Given the description of an element on the screen output the (x, y) to click on. 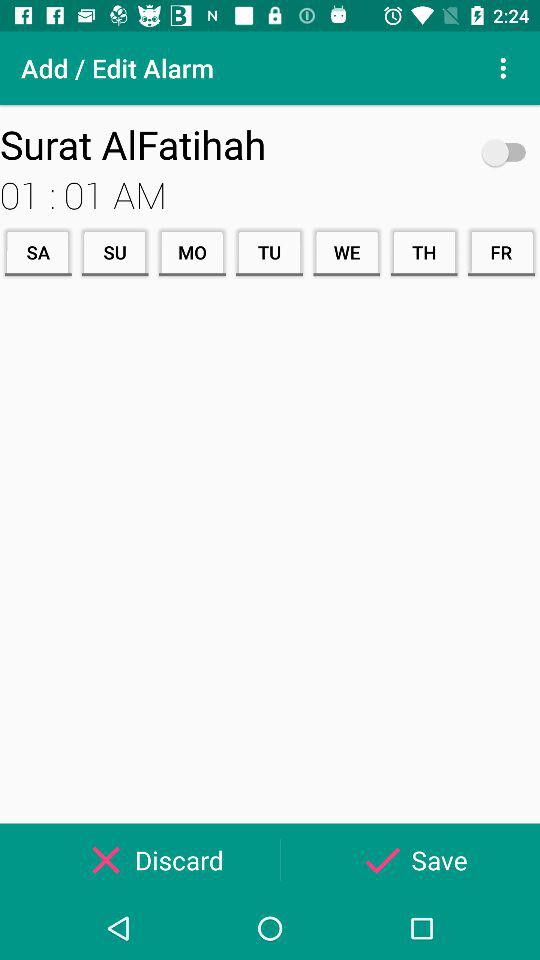
click the item next to th (501, 251)
